Given the description of an element on the screen output the (x, y) to click on. 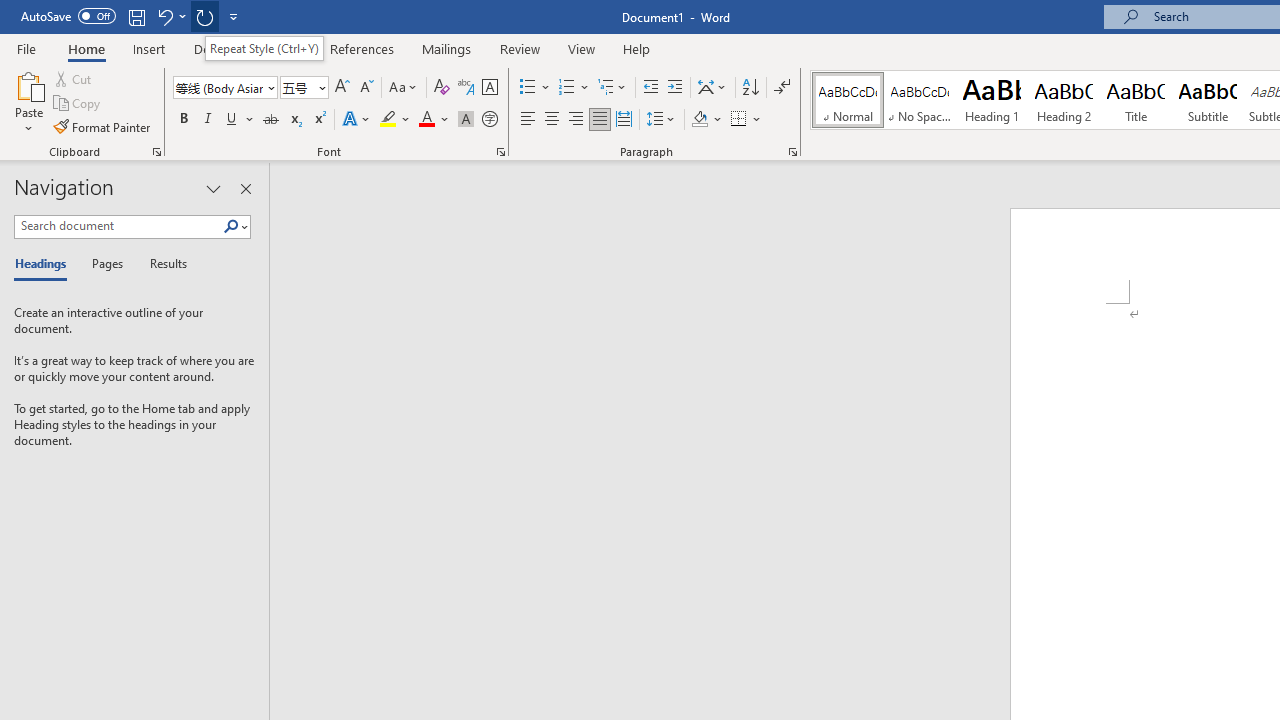
Grow Font (342, 87)
File Tab (26, 48)
Align Right (575, 119)
Underline (239, 119)
Asian Layout (712, 87)
Center (552, 119)
Show/Hide Editing Marks (781, 87)
Clear Formatting (442, 87)
Home (86, 48)
Justify (599, 119)
Character Shading (465, 119)
Title (1135, 100)
Review (520, 48)
Search (235, 227)
Character Border (489, 87)
